Given the description of an element on the screen output the (x, y) to click on. 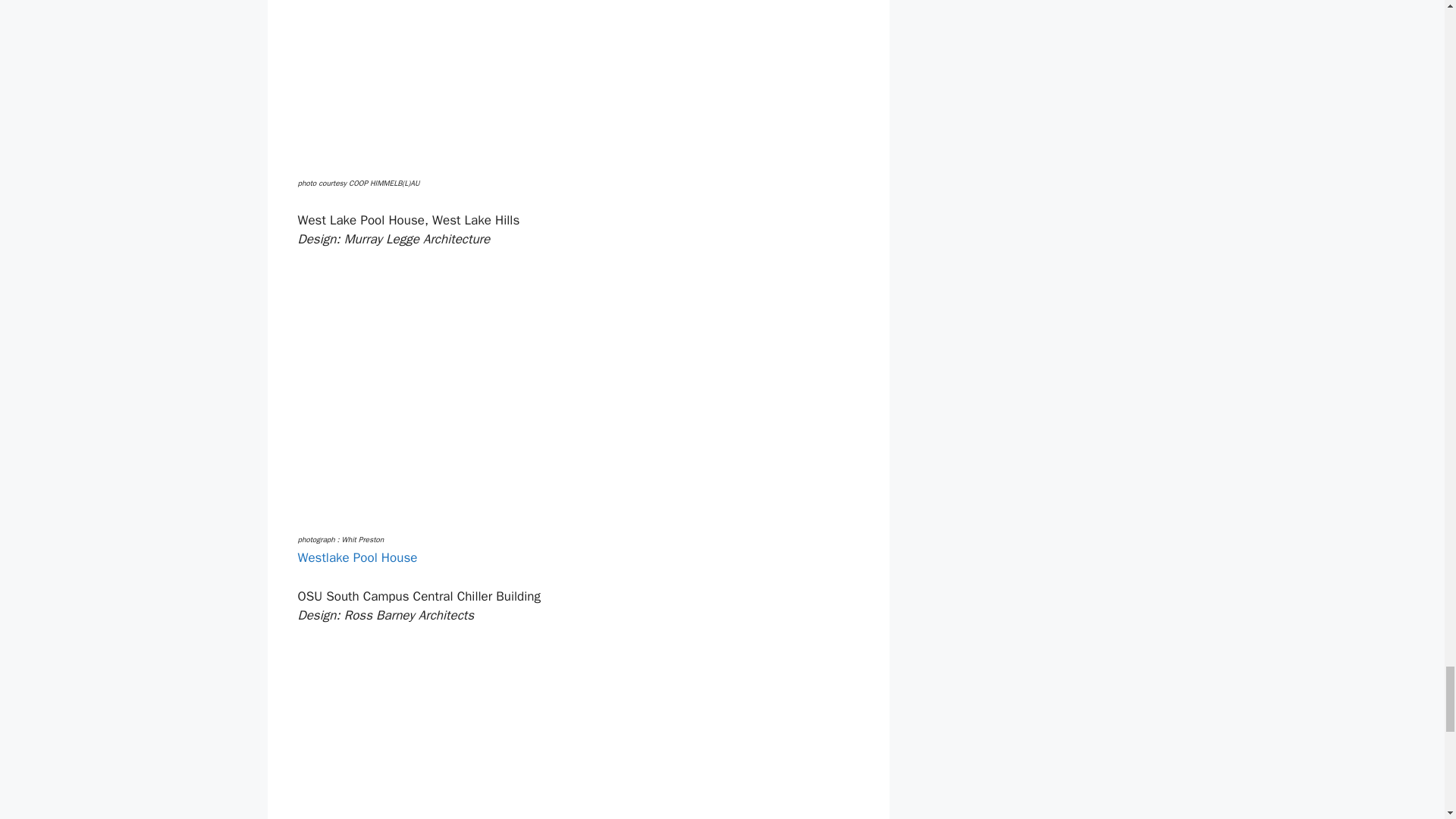
OSU South Campus Central Chiller Building (498, 722)
